Given the description of an element on the screen output the (x, y) to click on. 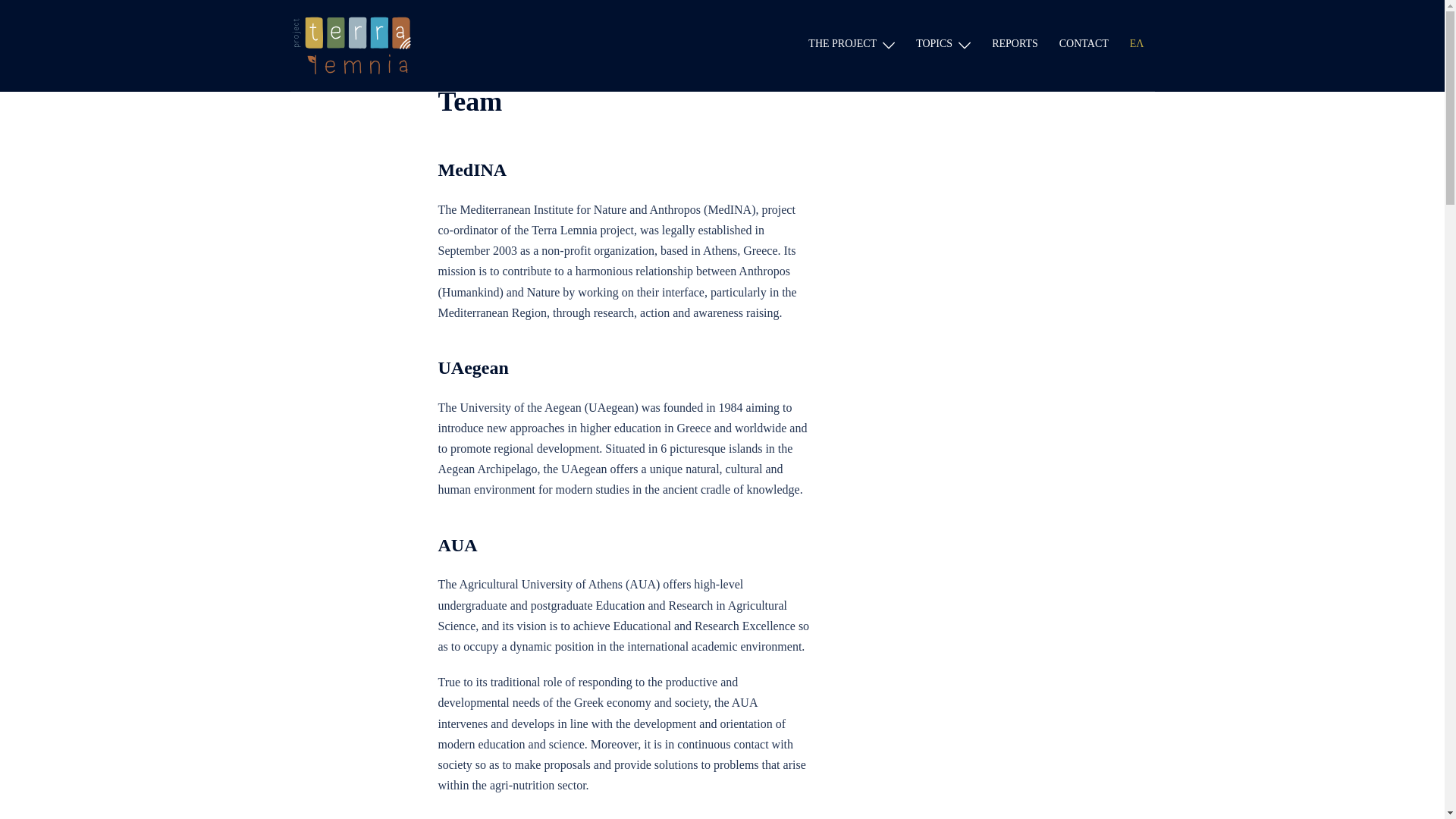
REPORTS (1014, 44)
CONTACT (1083, 44)
THE PROJECT (842, 44)
TOPICS (933, 44)
